Given the description of an element on the screen output the (x, y) to click on. 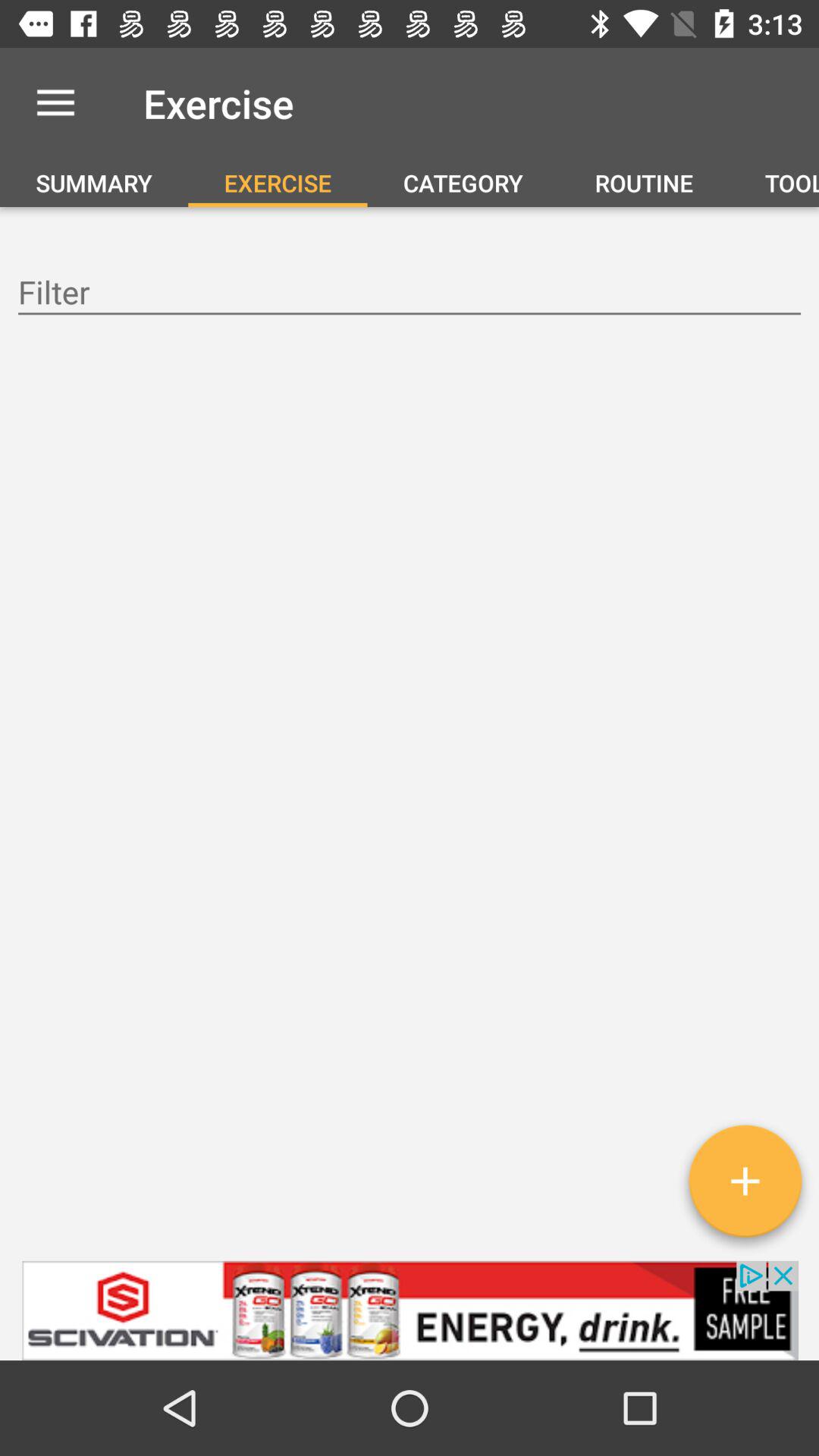
visit advertiser (409, 1310)
